Given the description of an element on the screen output the (x, y) to click on. 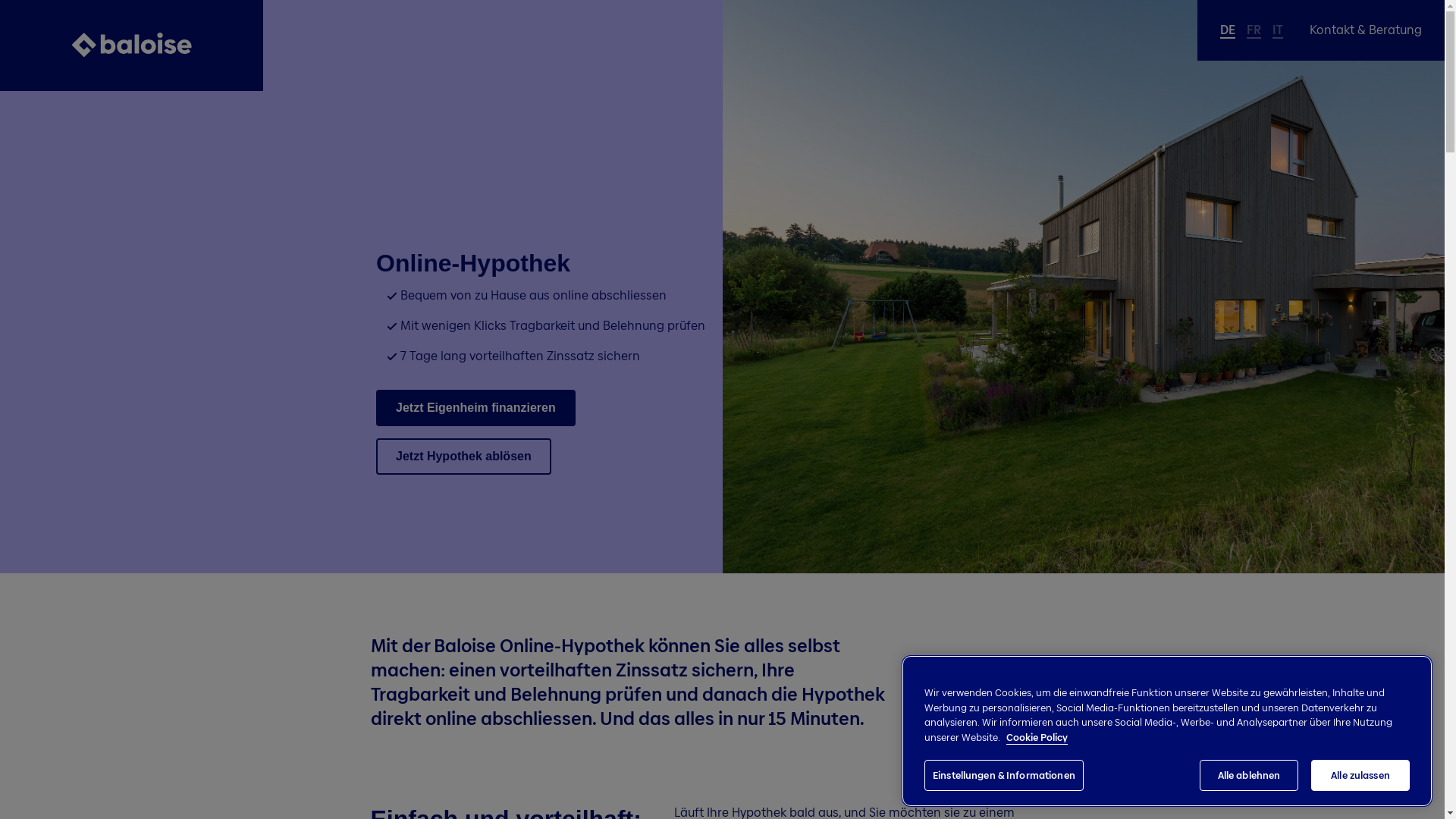
Einstellungen & Informationen Element type: text (1003, 775)
Cookie Policy Element type: text (1036, 736)
IT Element type: text (1277, 29)
FR Element type: text (1253, 29)
DE Element type: text (1227, 29)
Jetzt Eigenheim finanzieren Element type: text (475, 407)
Alle zulassen Element type: text (1360, 775)
Alle ablehnen Element type: text (1248, 775)
